Given the description of an element on the screen output the (x, y) to click on. 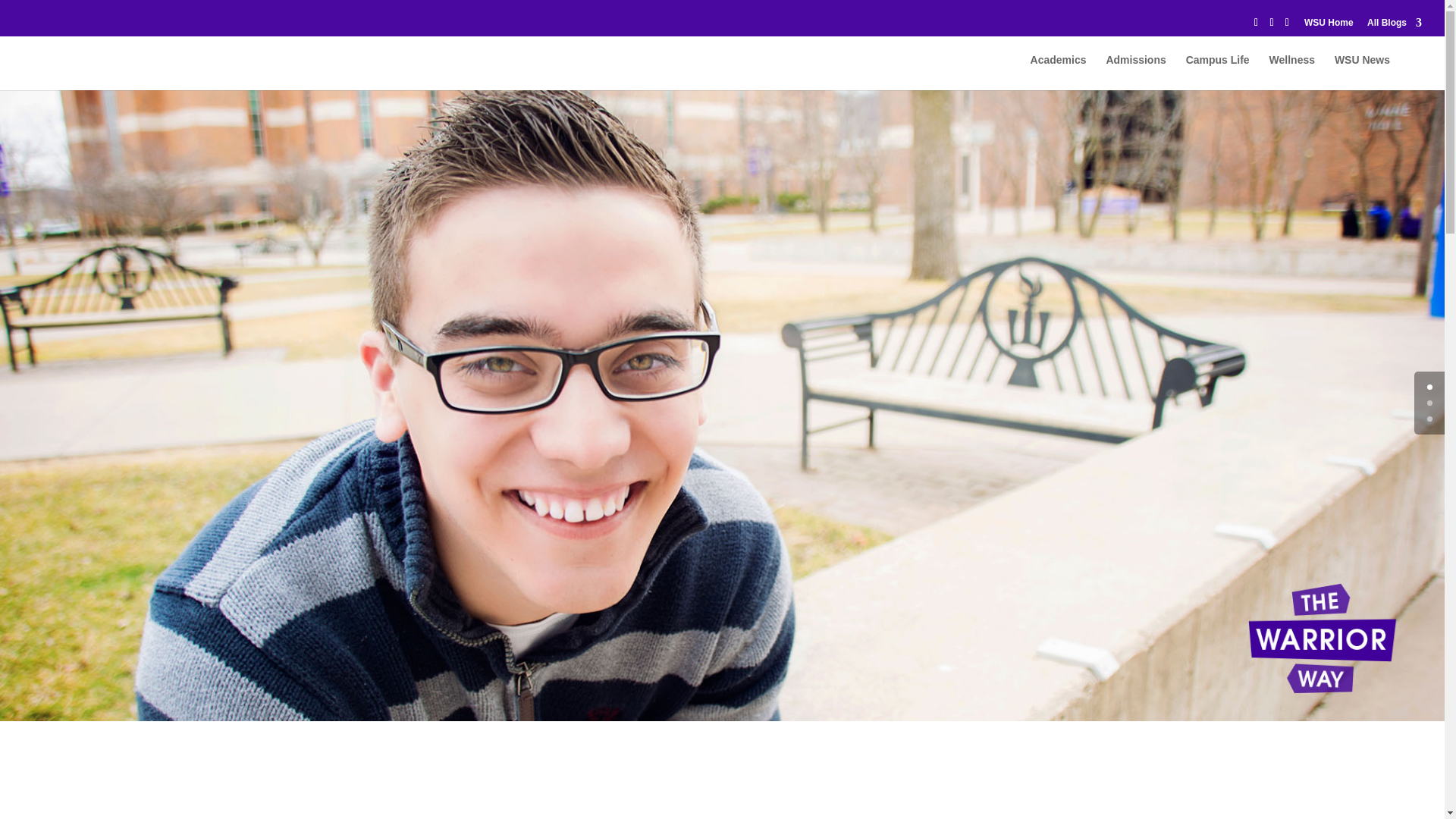
All Blogs (1394, 26)
WSU Home (1329, 26)
Admissions (1135, 72)
Academics (1058, 72)
Campus Life (1217, 72)
Wellness (1291, 72)
WSU News (1362, 72)
